Given the description of an element on the screen output the (x, y) to click on. 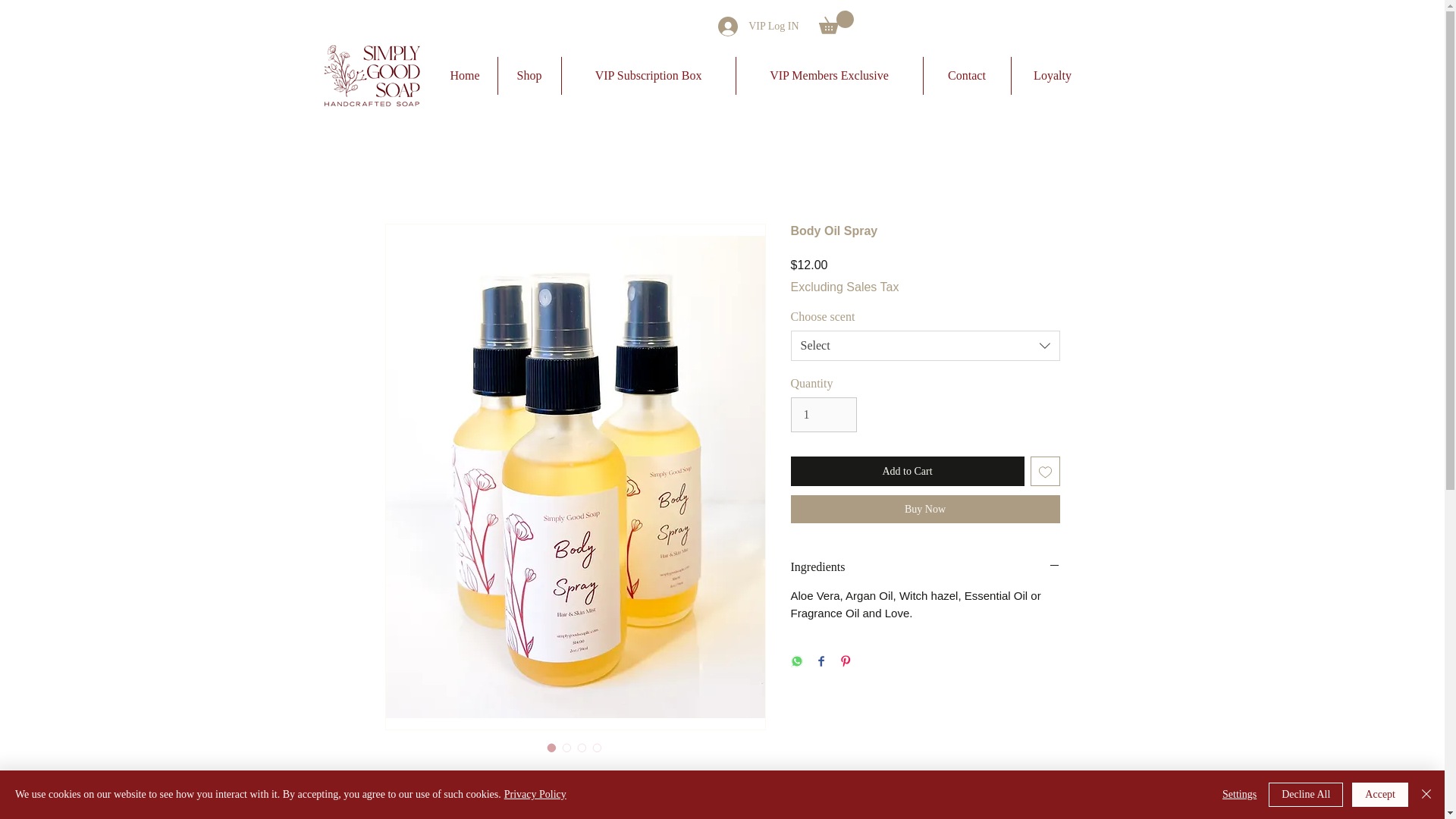
Add to Cart (906, 471)
VIP Subscription Box (647, 75)
Home (464, 75)
VIP Log IN (758, 26)
Ingredients (924, 566)
Select (924, 345)
VIP Members Exclusive (828, 75)
Shop (528, 75)
Buy Now (924, 509)
Loyalty (1052, 75)
1 (823, 414)
Contact (966, 75)
